Given the description of an element on the screen output the (x, y) to click on. 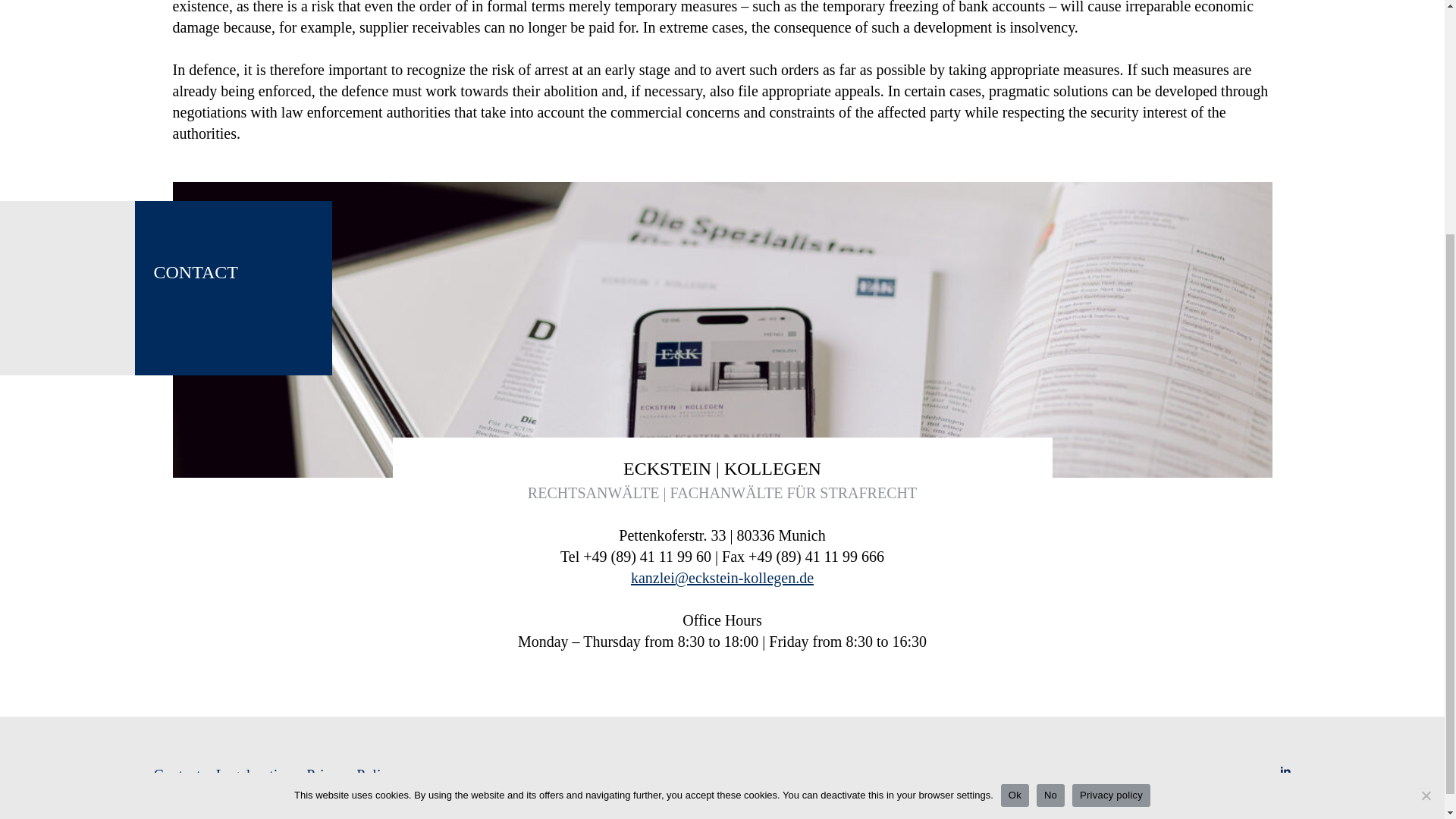
Contact (176, 773)
Ok (1015, 467)
LinkedIn (1284, 774)
No (1050, 467)
Privacy Policy (349, 773)
No (1425, 467)
Privacy policy (1110, 467)
Legal notice (253, 773)
